Given the description of an element on the screen output the (x, y) to click on. 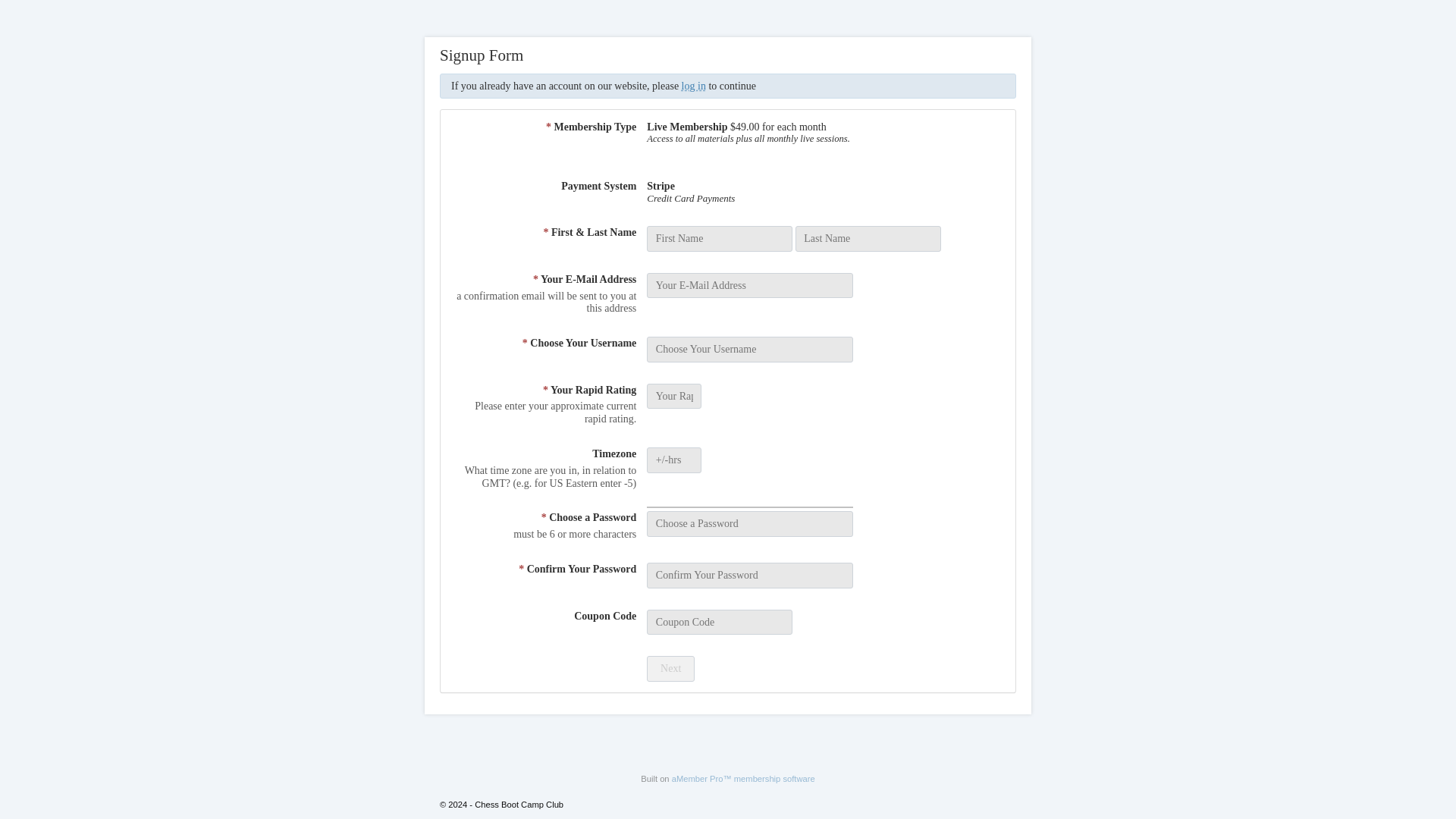
Next (670, 668)
log in (693, 85)
Next (670, 668)
Chess Boot Camp Club (693, 85)
